Given the description of an element on the screen output the (x, y) to click on. 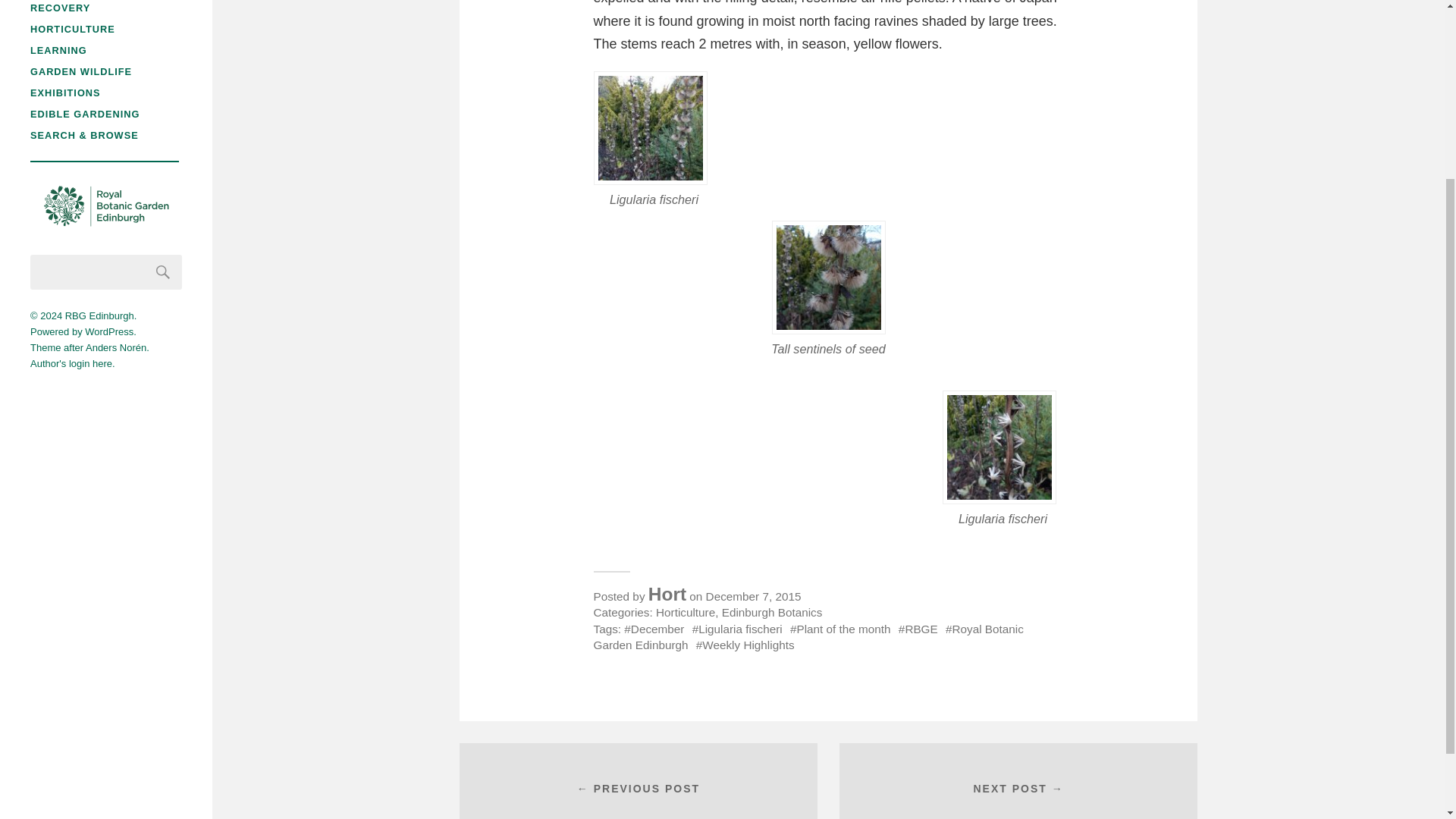
Ligularia fischeri (738, 628)
Search (163, 271)
Plant of the month (840, 628)
EXHIBITIONS (65, 92)
WordPress (108, 331)
Author's login here. (72, 363)
LEARNING (58, 50)
Search (163, 271)
GARDEN WILDLIFE (81, 71)
HORTICULTURE (72, 29)
